Given the description of an element on the screen output the (x, y) to click on. 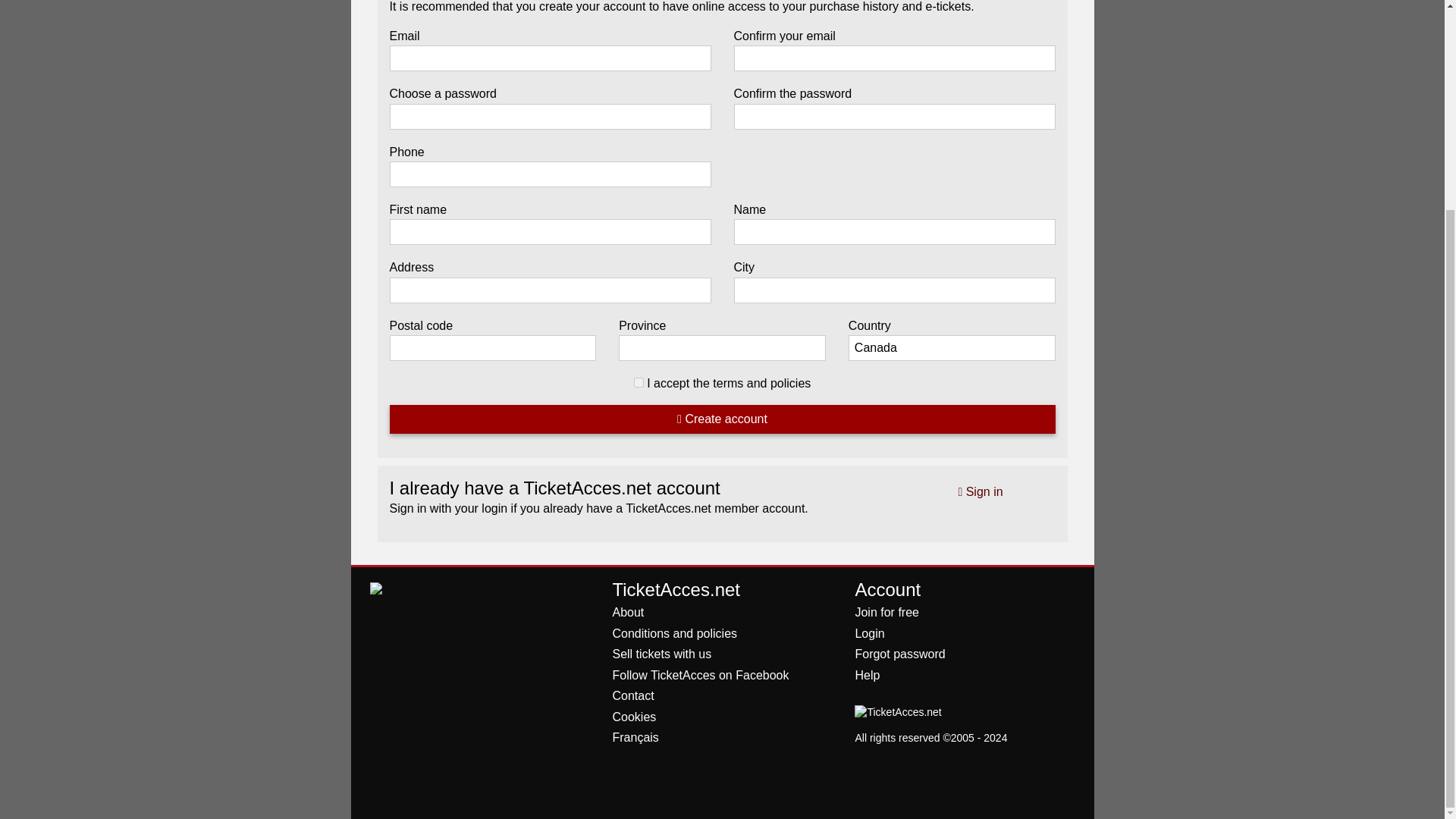
Follow TicketAcces on Facebook (700, 675)
Conditions and policies (673, 633)
Sign in (979, 491)
Login (868, 633)
Sell tickets with us (661, 653)
Forgot password (899, 653)
Cookies (633, 716)
1 (638, 382)
Canada (951, 347)
About (627, 612)
Create account (722, 419)
Contact (632, 695)
Help (866, 675)
Join for free (886, 612)
